Given the description of an element on the screen output the (x, y) to click on. 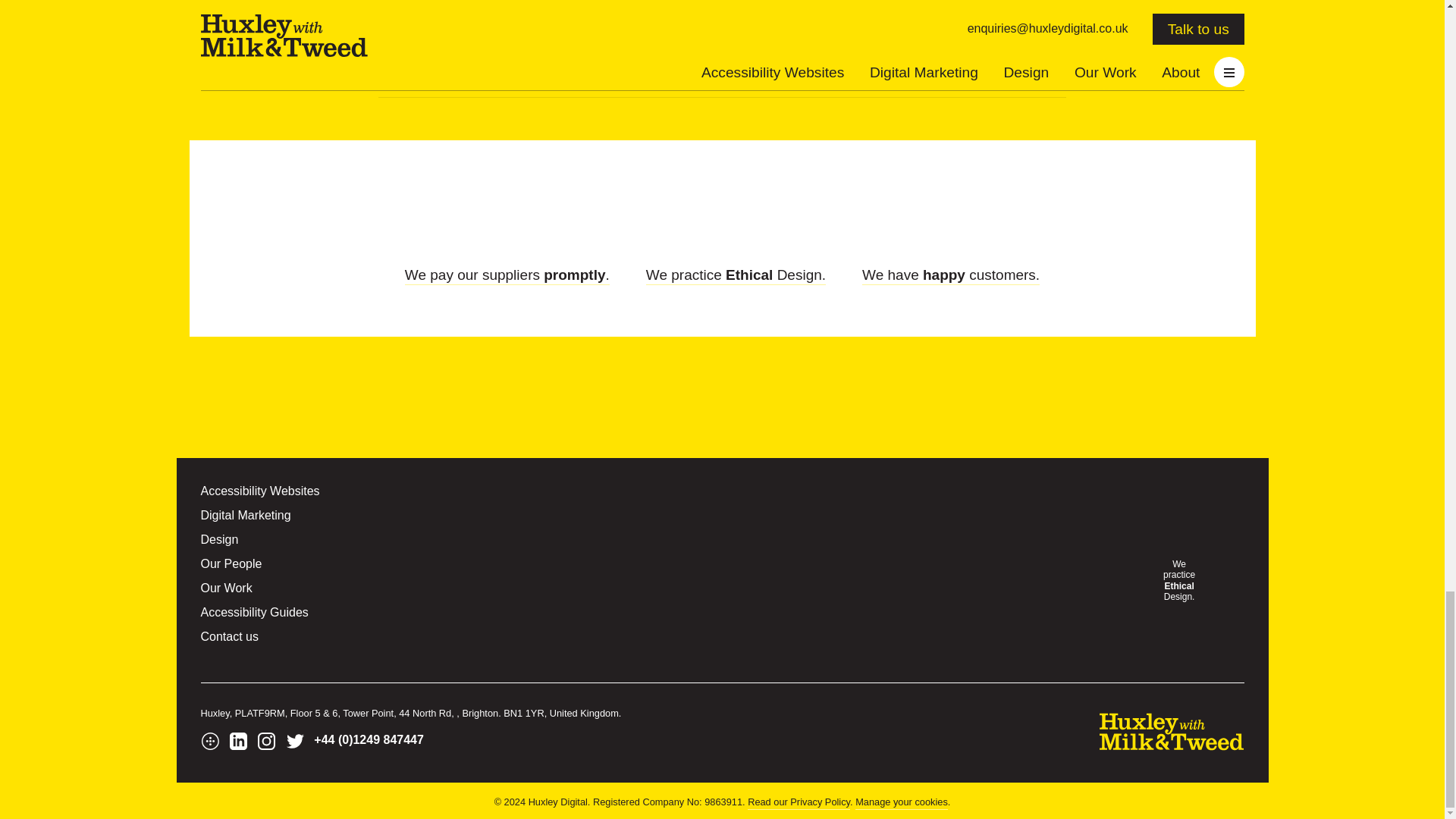
Accessibility Guides (253, 613)
Accessibility Websites (259, 491)
We practice Ethical Design. (735, 275)
Digital Marketing (244, 516)
We pay our suppliers promptly. (507, 275)
Our Work (225, 589)
Our People (231, 564)
We have happy customers. (950, 275)
Design (219, 540)
Contact us (228, 637)
